Given the description of an element on the screen output the (x, y) to click on. 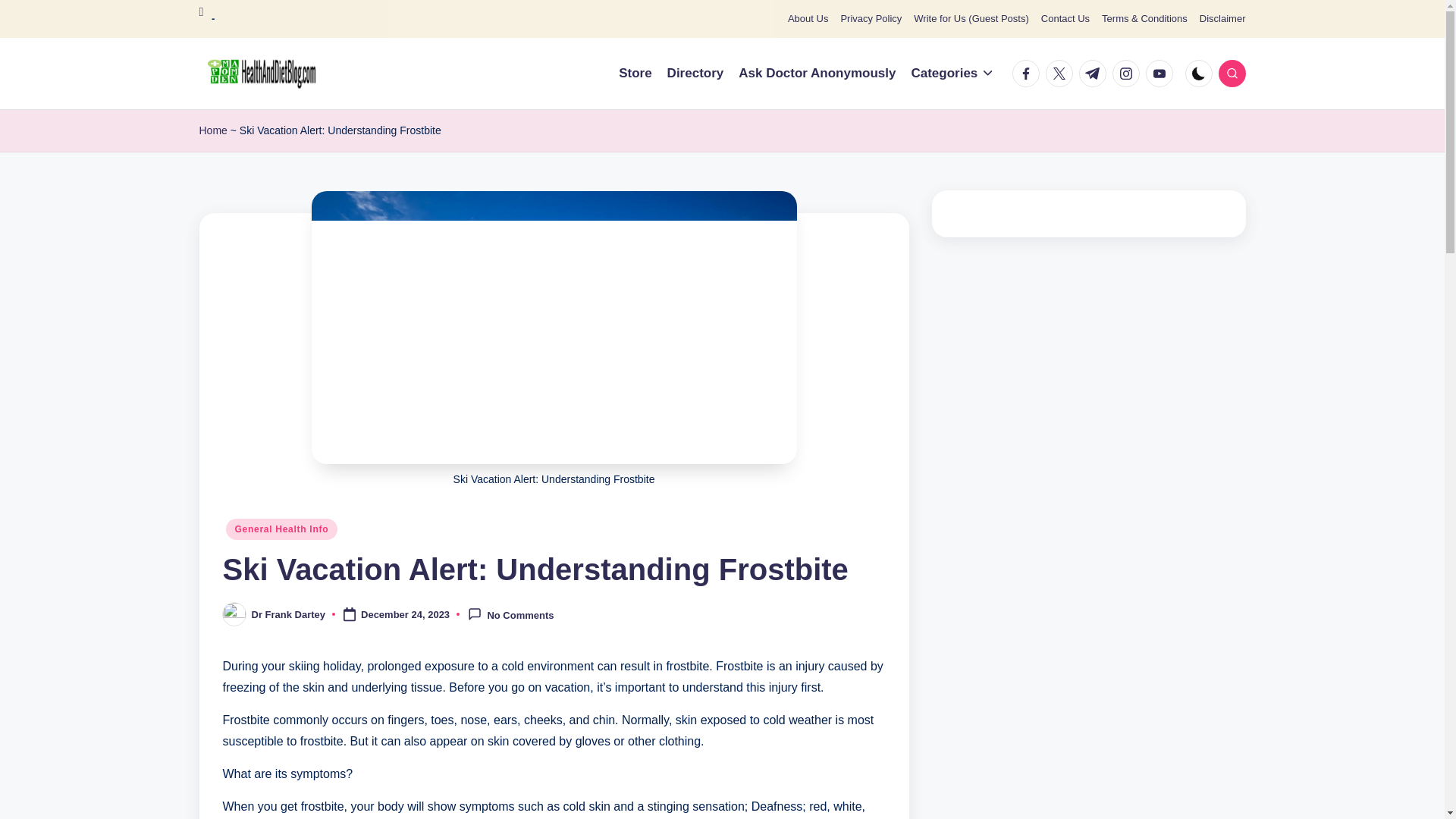
Disclaimer (1222, 18)
Store (634, 73)
Home (212, 130)
View all posts by Dr Frank Dartey (288, 614)
Directory (694, 73)
Contact Us (1065, 18)
Privacy Policy (870, 18)
twitter.com (1061, 72)
Categories (952, 73)
Dr Frank Dartey (288, 614)
General Health Info (281, 528)
facebook.com (1028, 72)
About Us (807, 18)
instagram.com (1128, 72)
youtube.com (1160, 72)
